Given the description of an element on the screen output the (x, y) to click on. 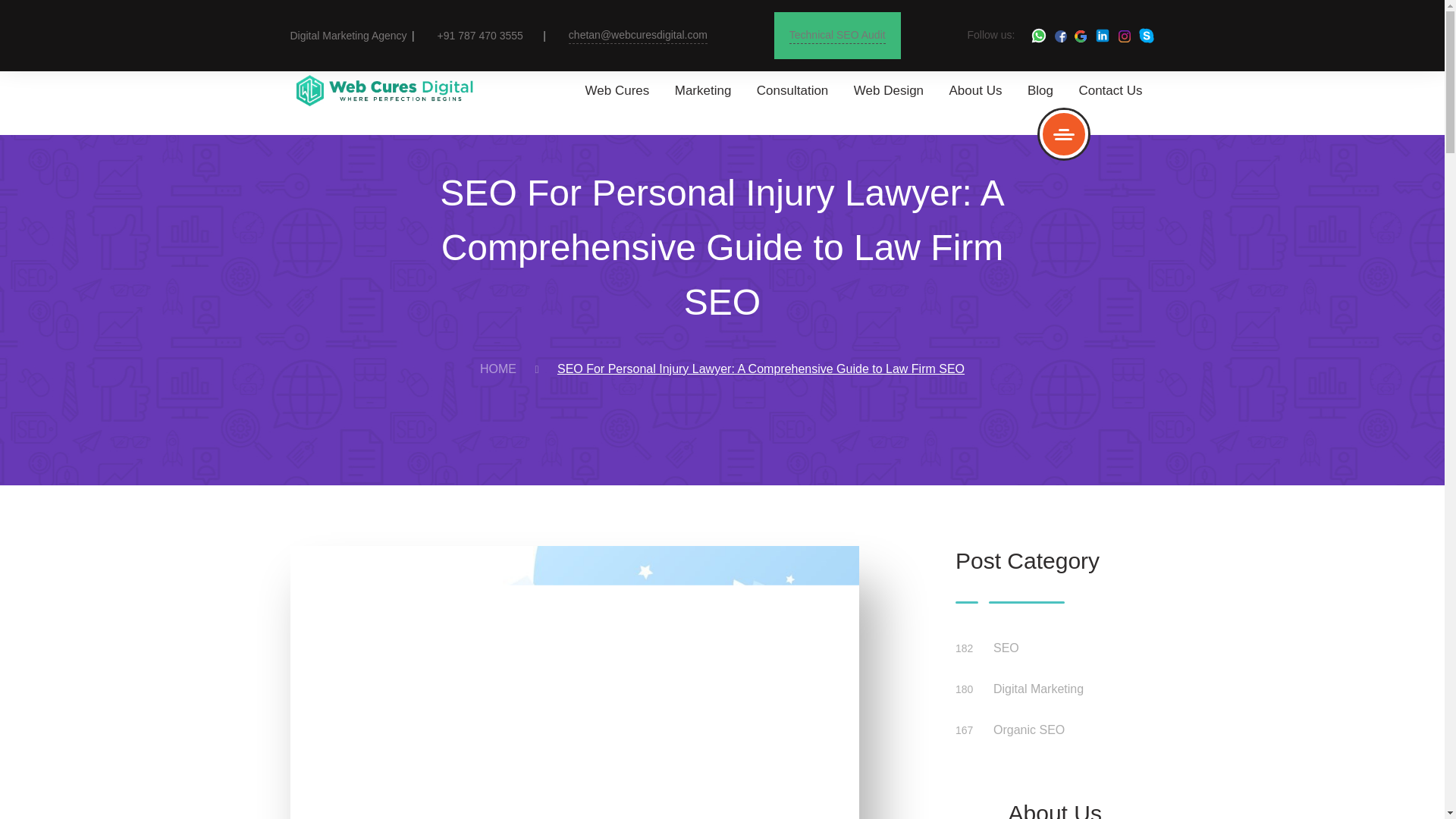
About Us (976, 90)
Marketing (703, 90)
Contact Us (1109, 90)
Blog (1039, 90)
Web Design (888, 90)
Web Cures (617, 90)
Healthcare SEO (956, 241)
Marketing (703, 90)
Blog (1039, 90)
Law Firm SEO (956, 346)
